Given the description of an element on the screen output the (x, y) to click on. 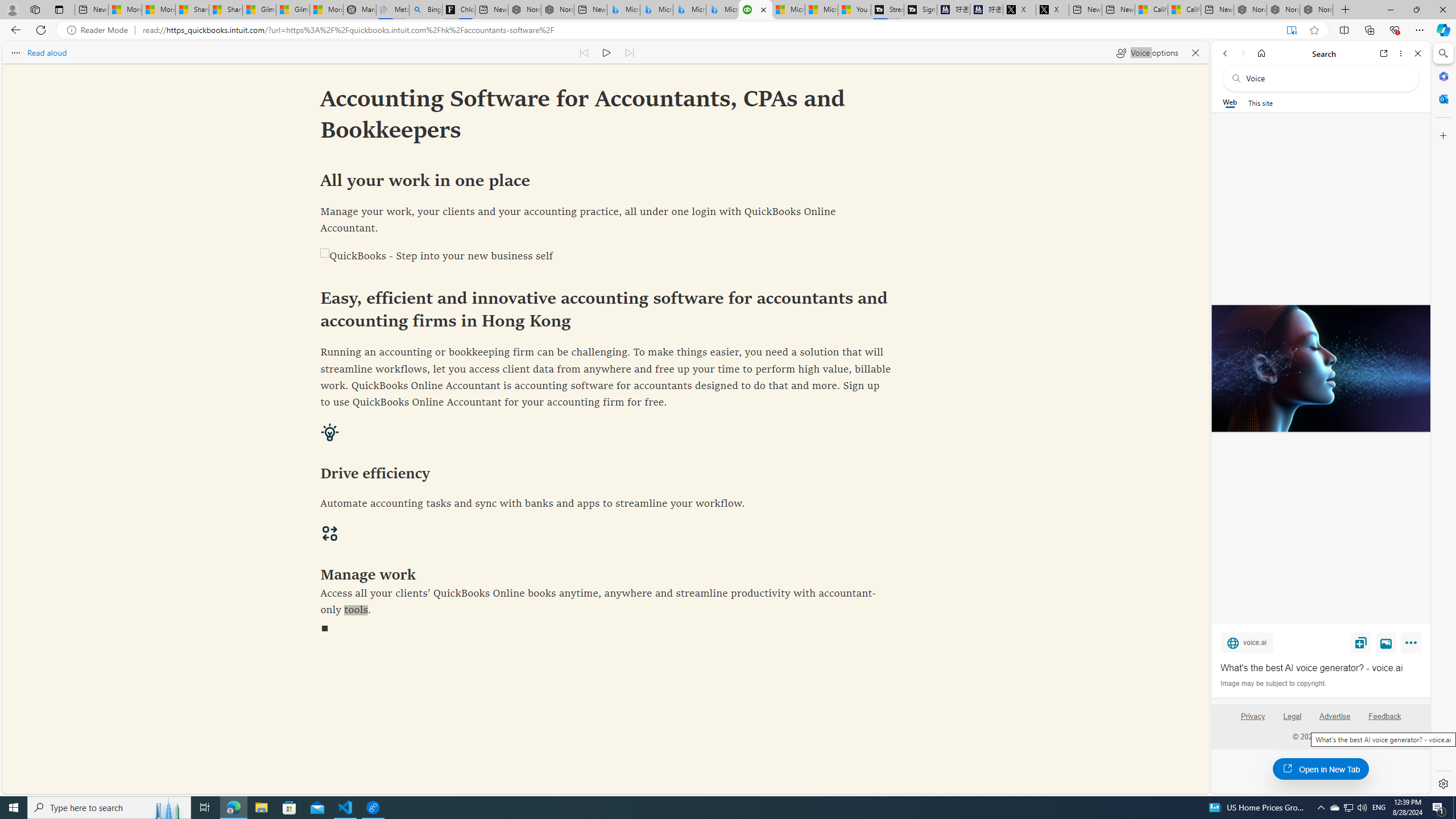
Reader Mode (100, 29)
Save (1361, 642)
Open in New Tab (1321, 768)
Image may be subject to copyright. (1273, 682)
Voice options (1146, 52)
